Given the description of an element on the screen output the (x, y) to click on. 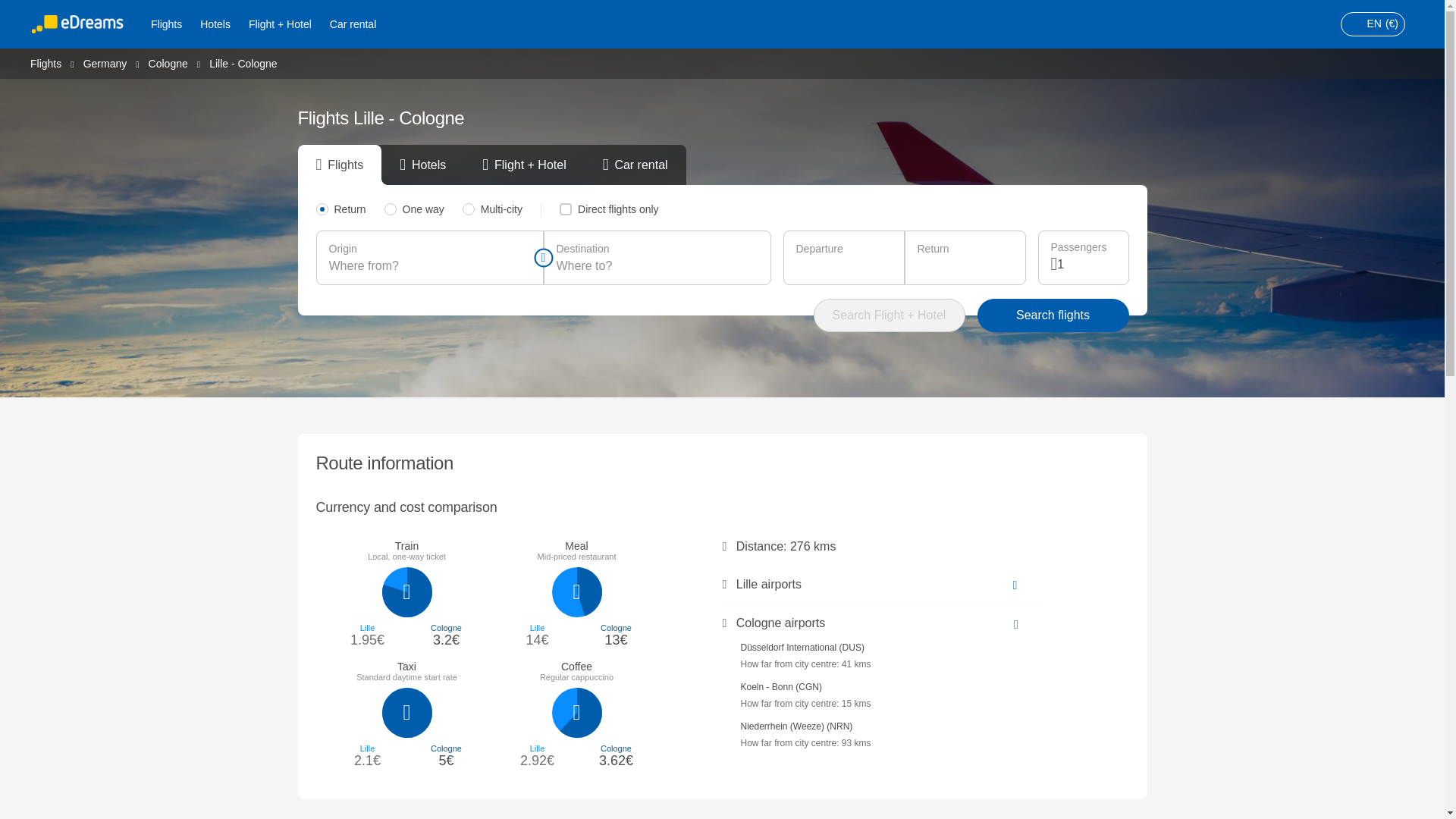
Lille - Cologne (243, 63)
1 (1086, 263)
Hotels (215, 24)
Car rental (352, 24)
Flights (45, 62)
Cologne (167, 62)
Search flights (1052, 315)
Germany (105, 62)
Flights (165, 24)
